Given the description of an element on the screen output the (x, y) to click on. 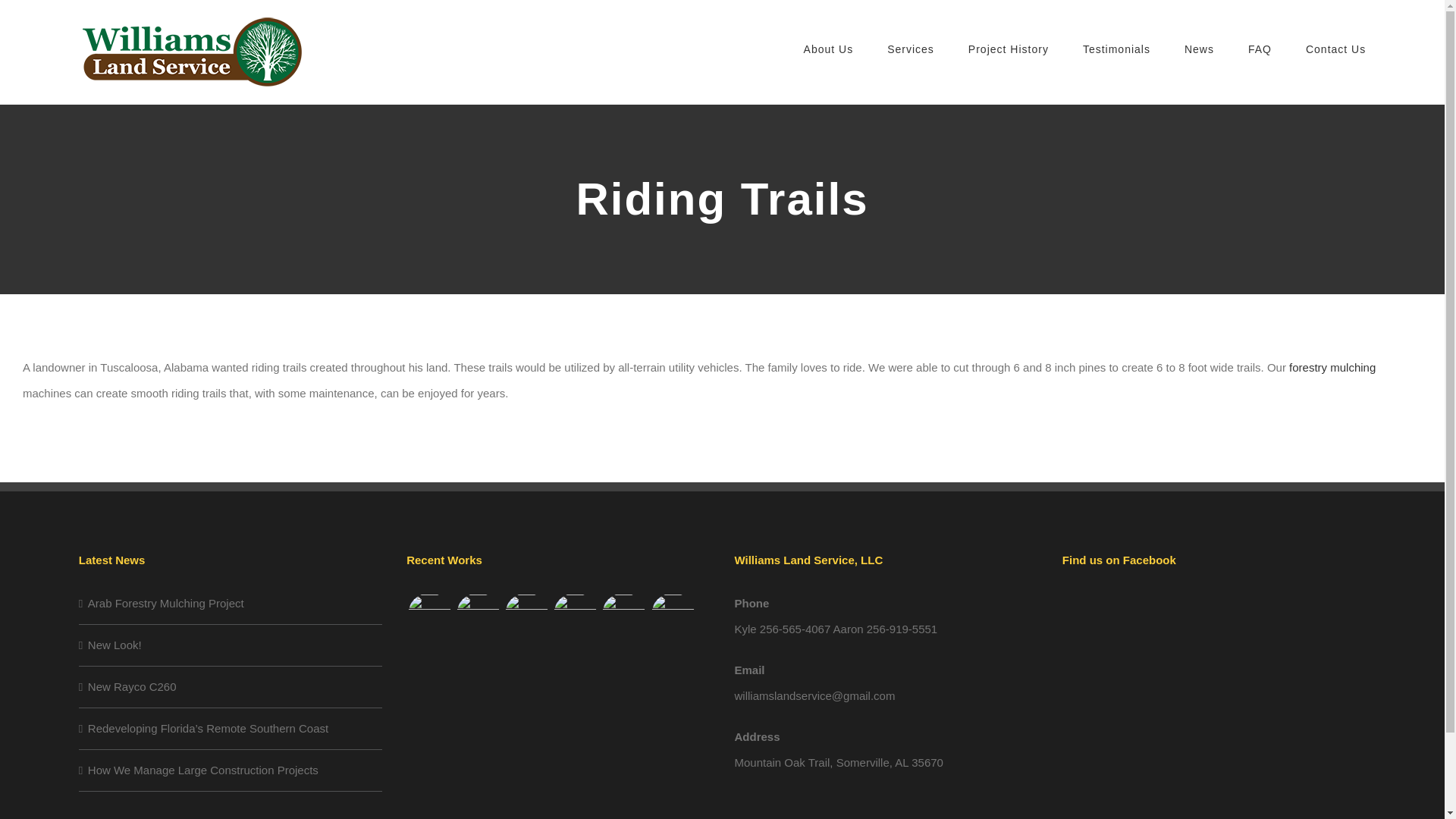
New Rayco C260 (230, 687)
Hartselle Lake Lot (477, 614)
Arab Forestry Mulching Project (230, 603)
North Alabama I Property Line Management Project (525, 614)
forestry mulching (1331, 367)
New Look! (230, 645)
Riding Trails (623, 614)
How We Manage Large Construction Projects (230, 769)
